Given the description of an element on the screen output the (x, y) to click on. 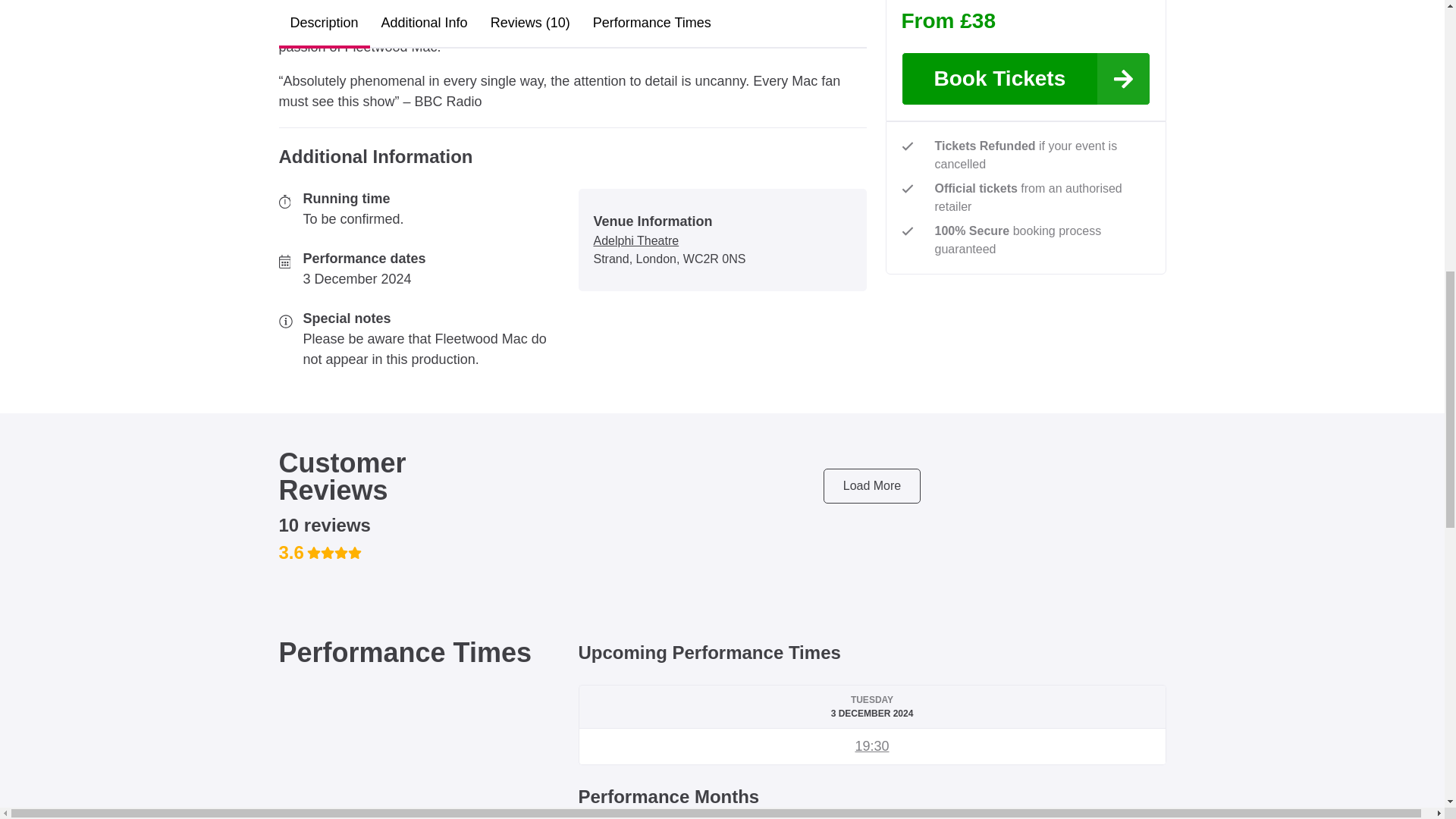
Go Your Own Way (871, 746)
Load more (872, 485)
Adelphi Theatre (635, 240)
